Given the description of an element on the screen output the (x, y) to click on. 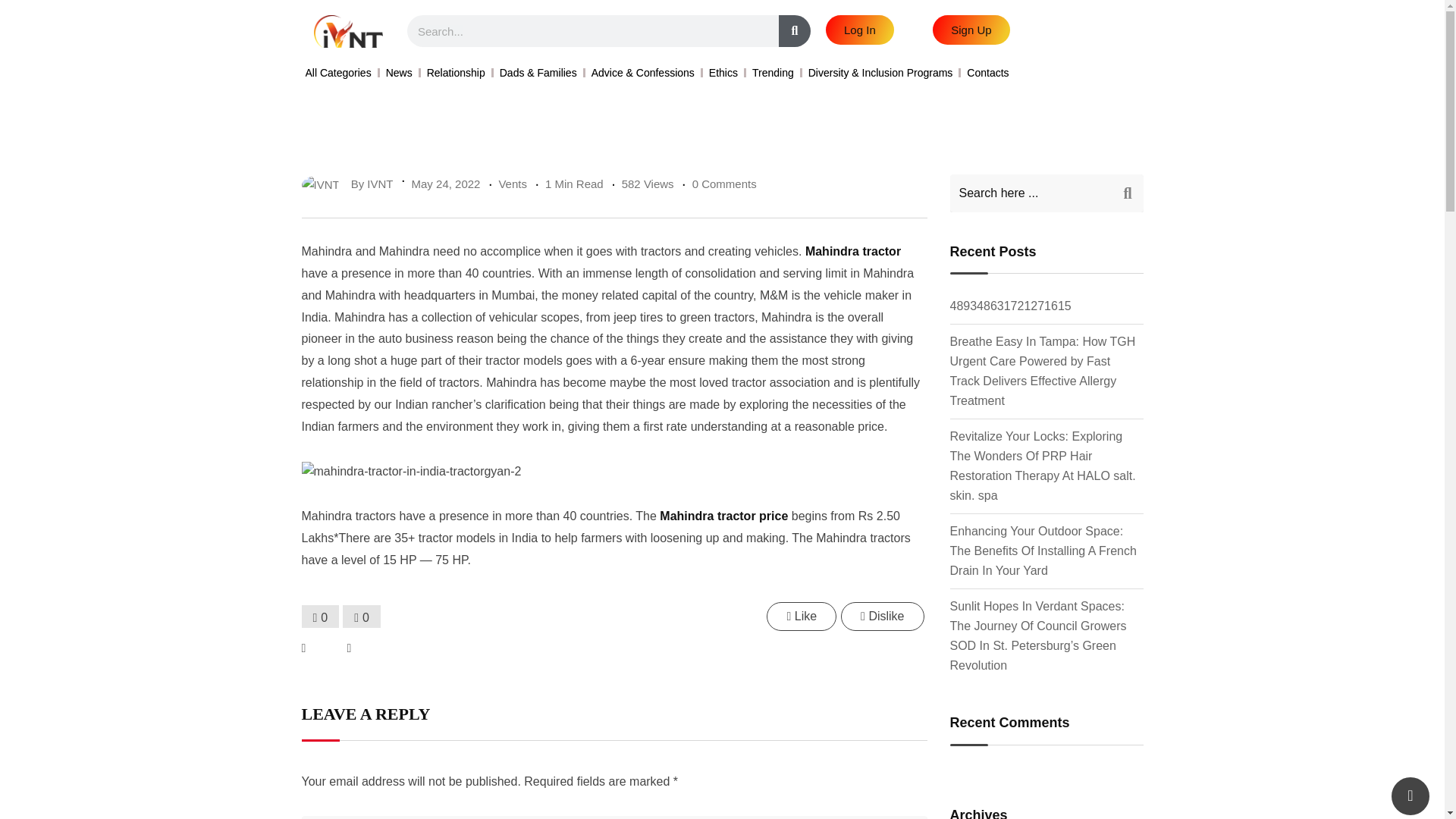
Mahindra tractor (853, 250)
Dislike (882, 615)
Sign Up (971, 30)
Log In (859, 30)
Mahindra tractor price (723, 515)
News (398, 72)
Ethics (723, 72)
Mahindra-Tractor-in-India-Tractorgyan-2 - iVNT (411, 471)
489348631721271615 (1009, 305)
Trending (772, 72)
Relationship (455, 72)
Contacts (987, 72)
IVNT (379, 183)
Vents (512, 183)
